Given the description of an element on the screen output the (x, y) to click on. 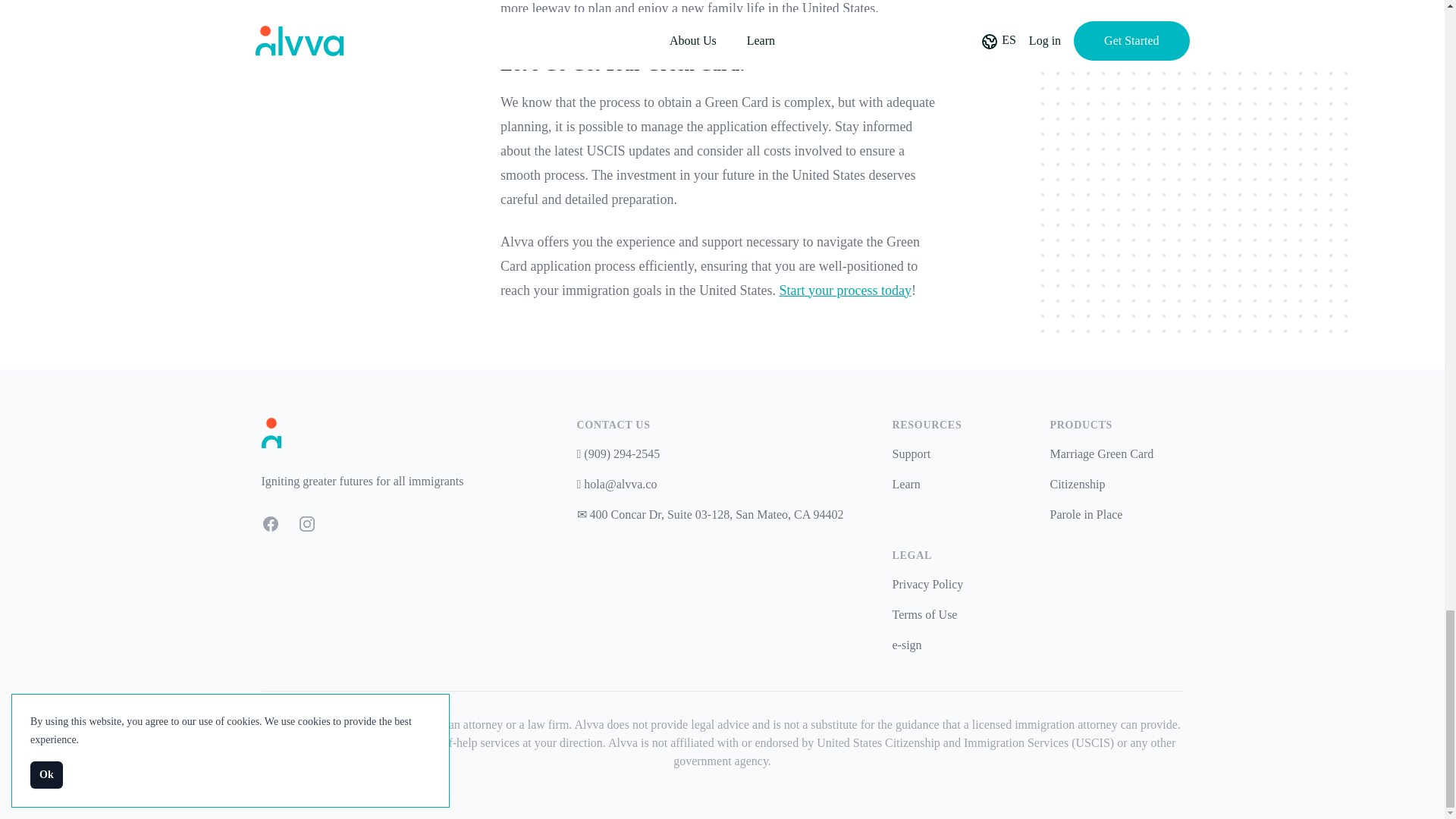
Start your process today (844, 290)
Support (910, 453)
Instagram (306, 524)
Parole in Place (1085, 513)
e-sign (906, 644)
Facebook (269, 524)
Privacy Policy (926, 584)
Terms of Use (923, 614)
Marriage Green Card (1101, 453)
Learn (905, 483)
